Given the description of an element on the screen output the (x, y) to click on. 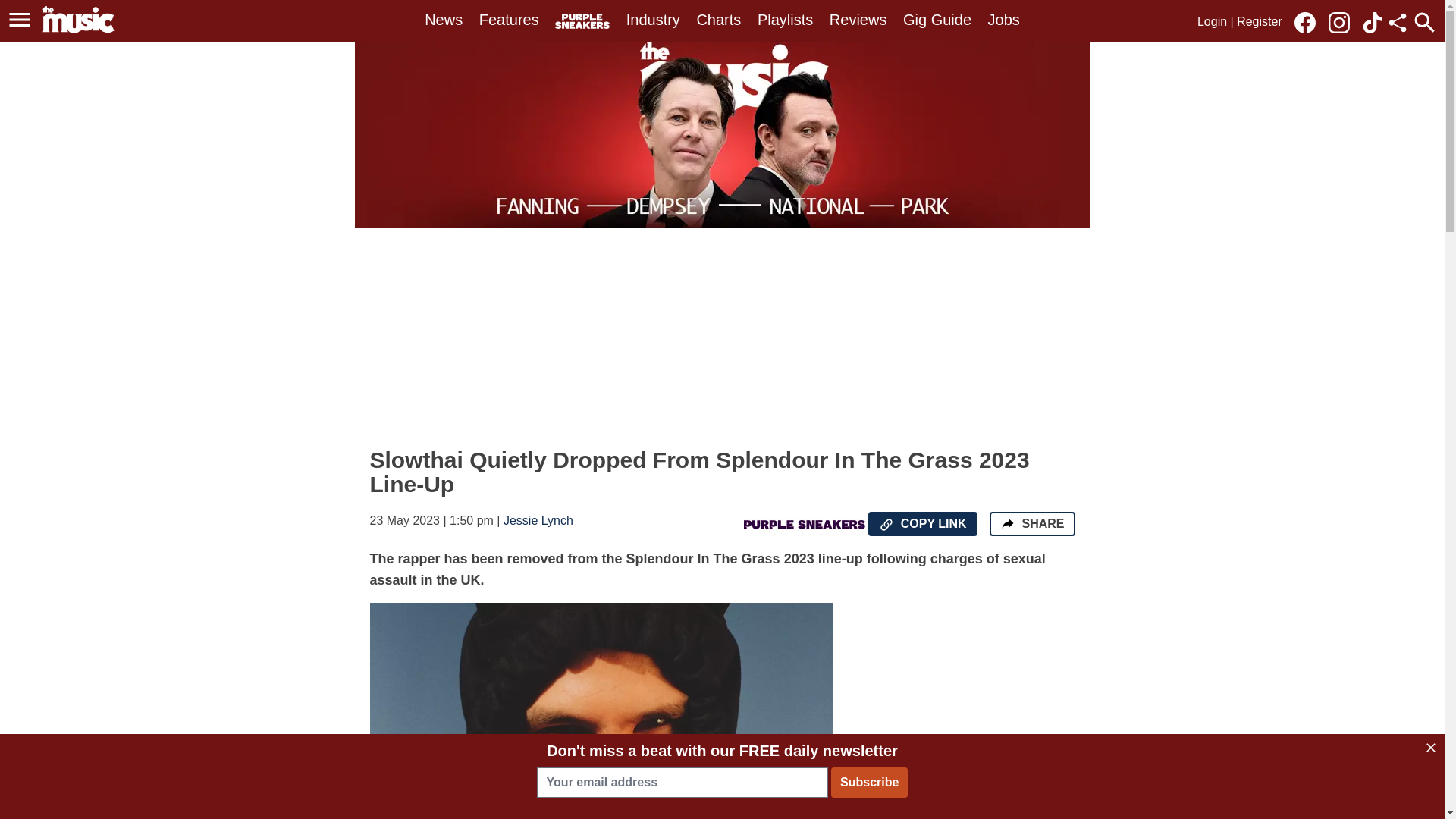
Link to our TikTok (1372, 21)
Reviews (857, 19)
Copy the page URL COPY LINK (921, 523)
Link to our Instagram (1342, 21)
Login (1211, 21)
Gig Guide (936, 19)
Share this page (1397, 22)
Link to our Facebook (1305, 22)
Link to our TikTok (1372, 22)
Open the main menu (19, 19)
